Given the description of an element on the screen output the (x, y) to click on. 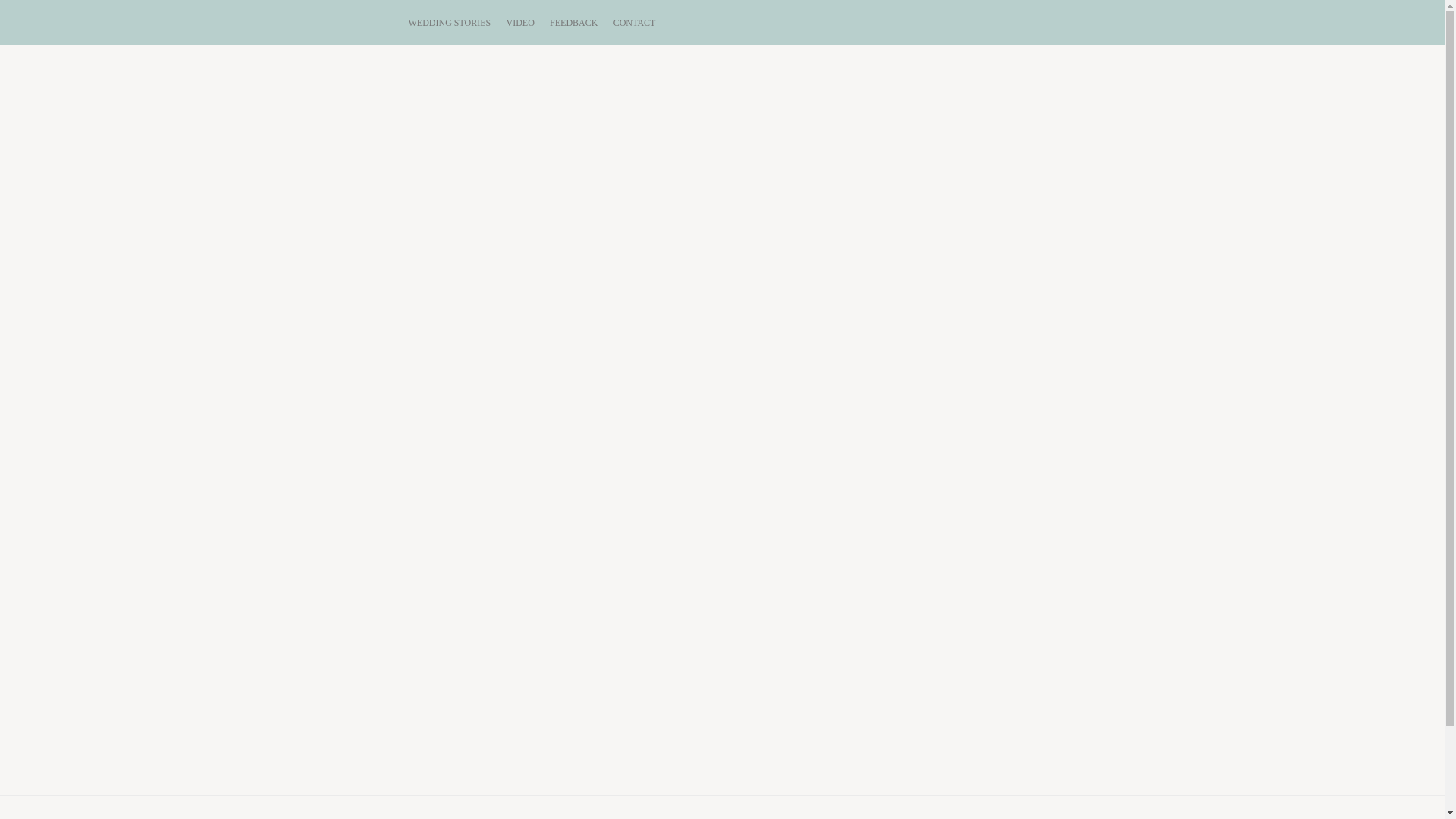
FEEDBACK Element type: text (573, 22)
VIDEO Element type: text (520, 22)
WEDDING STORIES Element type: text (448, 22)
CONTACT Element type: text (634, 22)
